Given the description of an element on the screen output the (x, y) to click on. 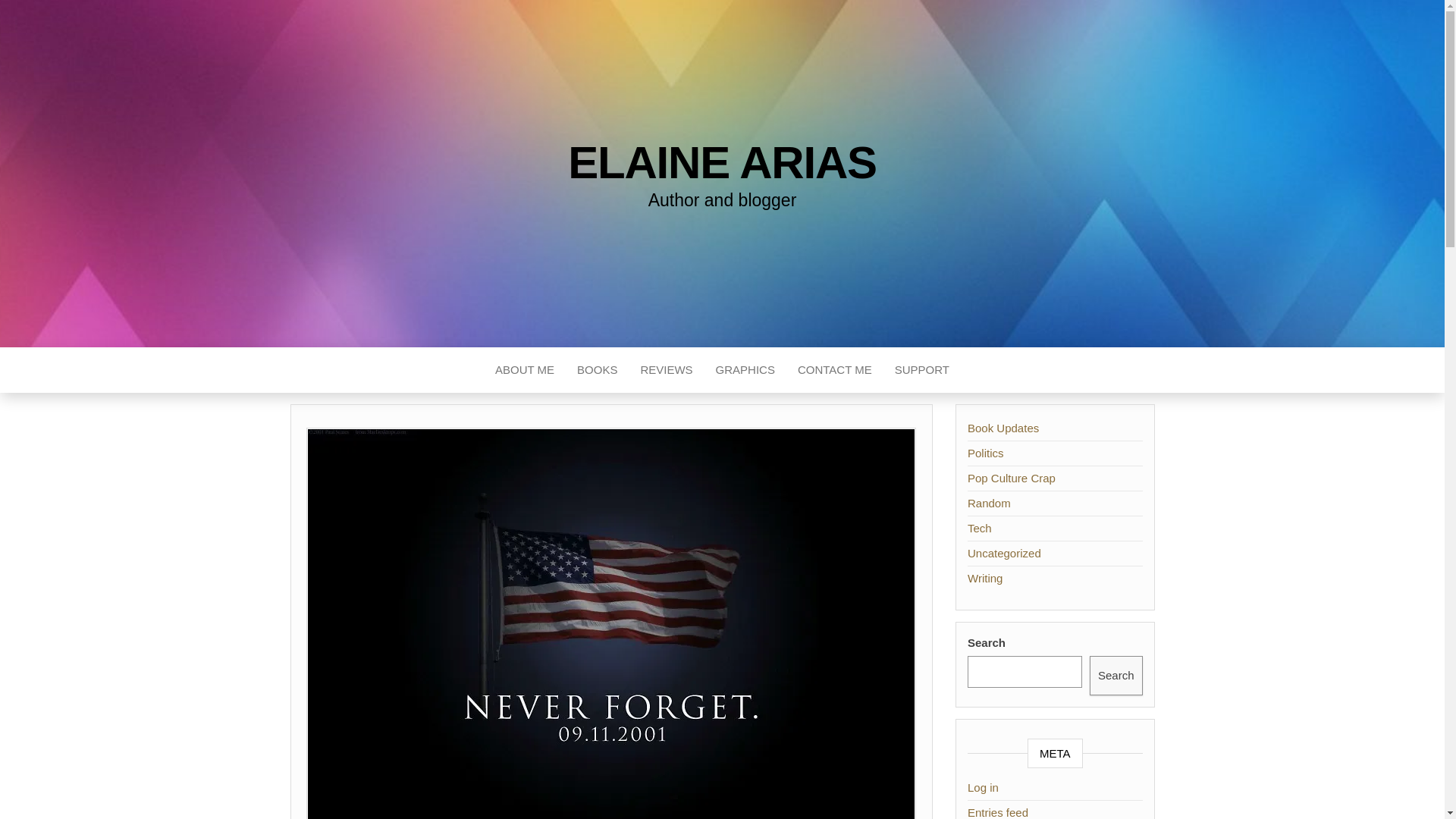
Book Updates (1003, 427)
Log in (983, 787)
GRAPHICS (745, 370)
Tech (979, 527)
Contact Me (834, 370)
Entries feed (997, 812)
Politics (986, 452)
ELAINE ARIAS (721, 162)
Reviews (665, 370)
Uncategorized (1004, 553)
About Me (524, 370)
REVIEWS (665, 370)
Books (597, 370)
ABOUT ME (524, 370)
CONTACT ME (834, 370)
